Given the description of an element on the screen output the (x, y) to click on. 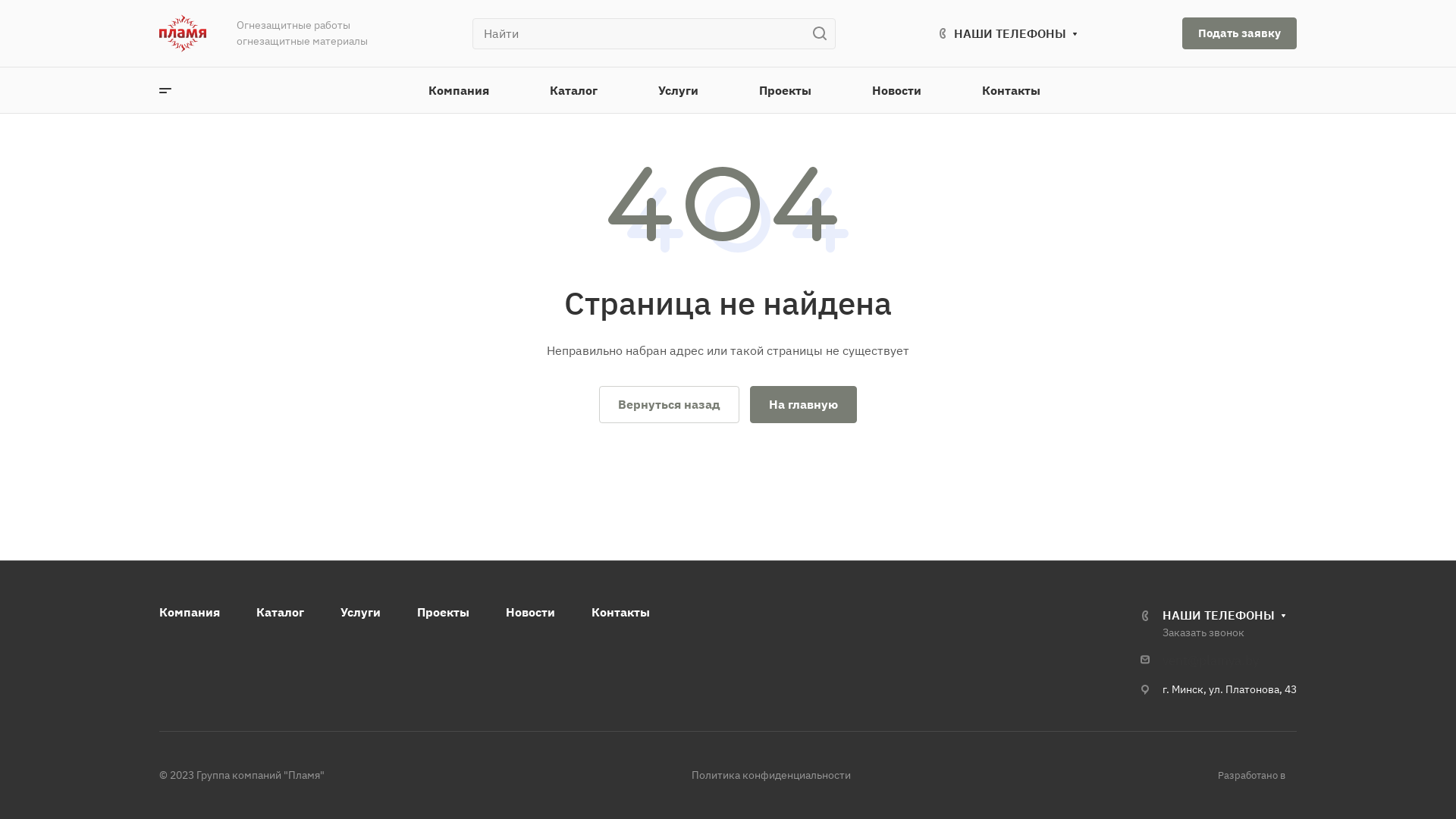
@plamya.by Element type: text (1222, 660)
